Given the description of an element on the screen output the (x, y) to click on. 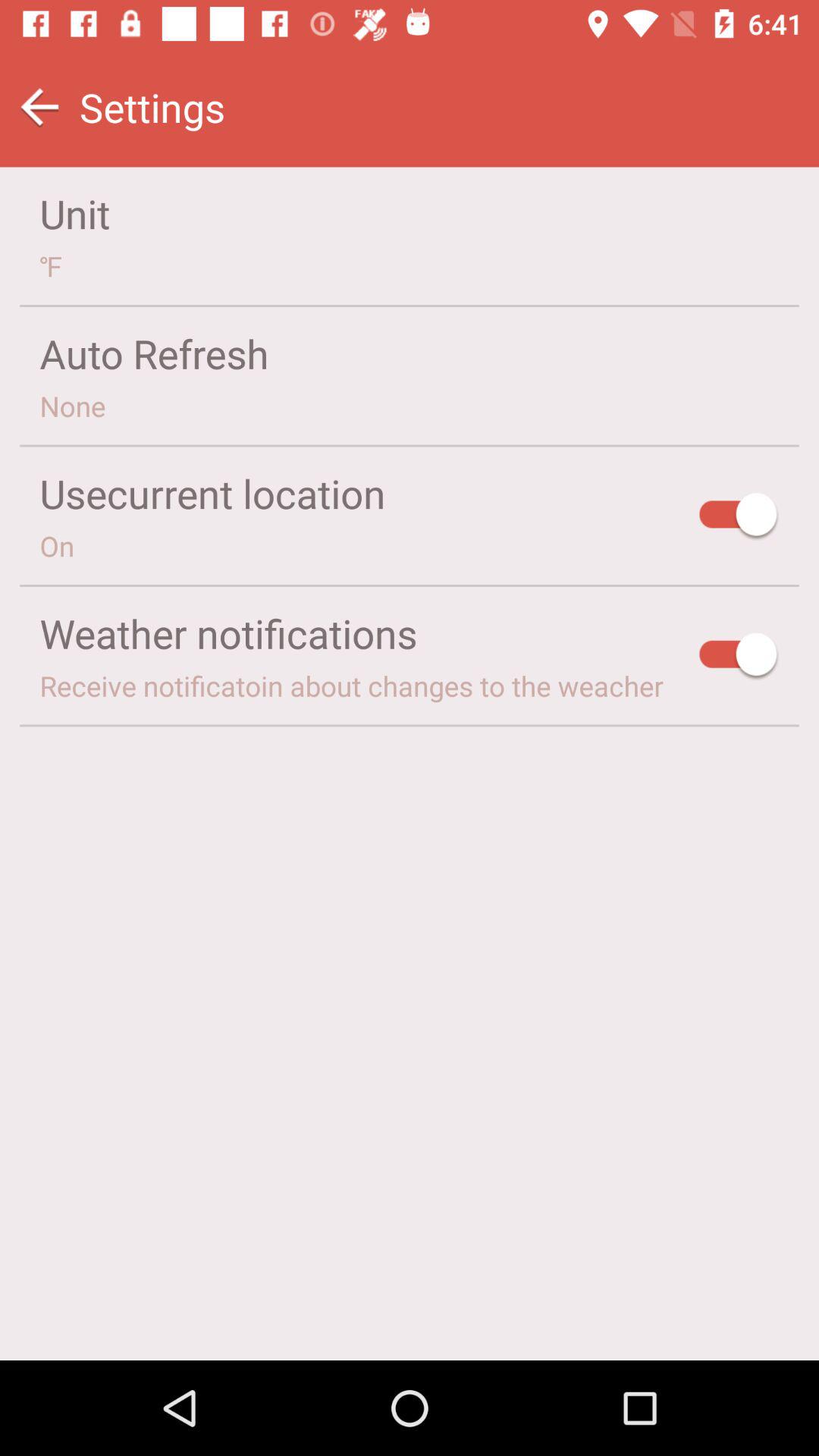
launch item to the right of the usecurrent location (739, 516)
